Given the description of an element on the screen output the (x, y) to click on. 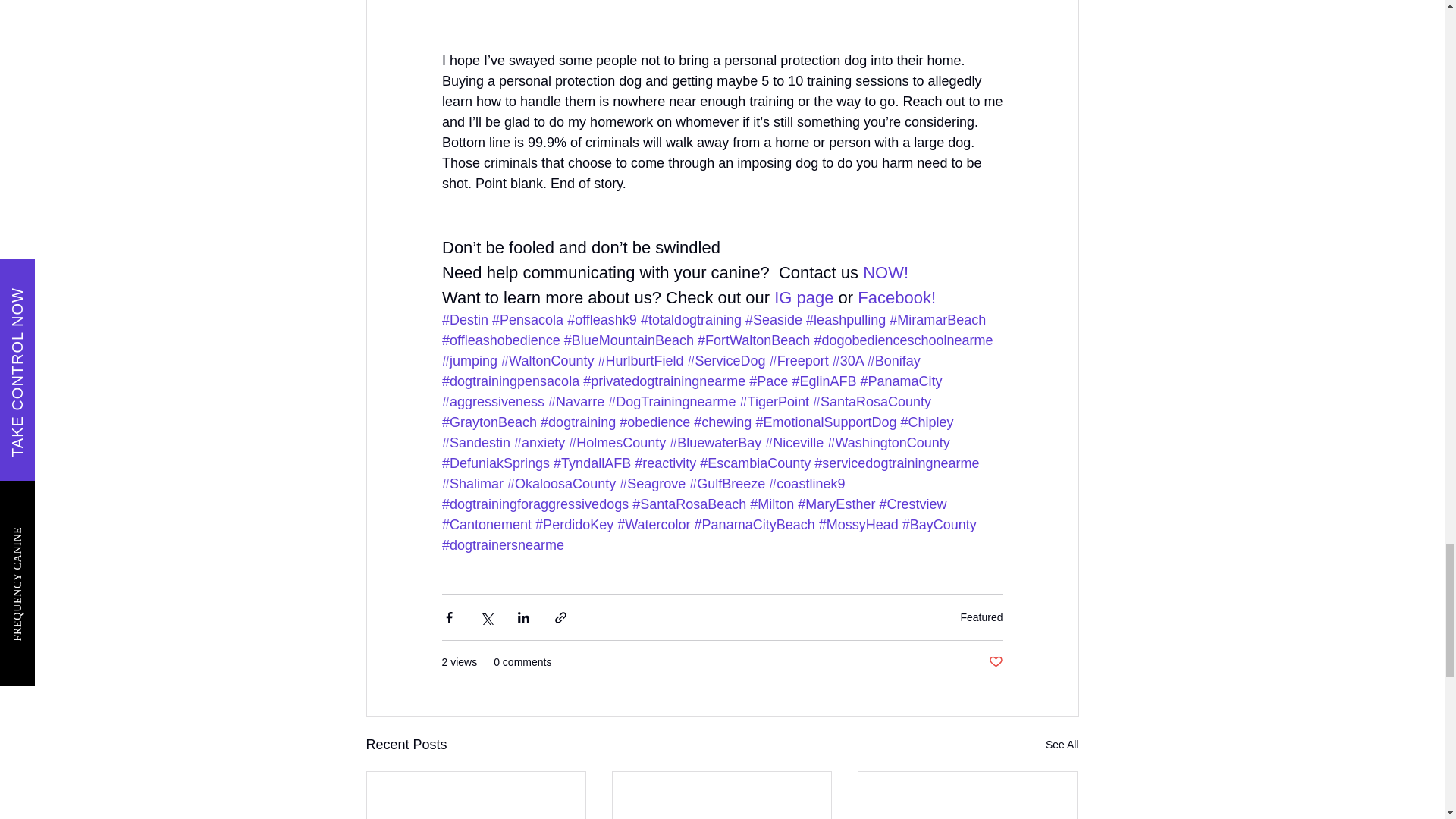
Facebook!  (898, 297)
IG page (803, 297)
NOW! (885, 271)
